Given the description of an element on the screen output the (x, y) to click on. 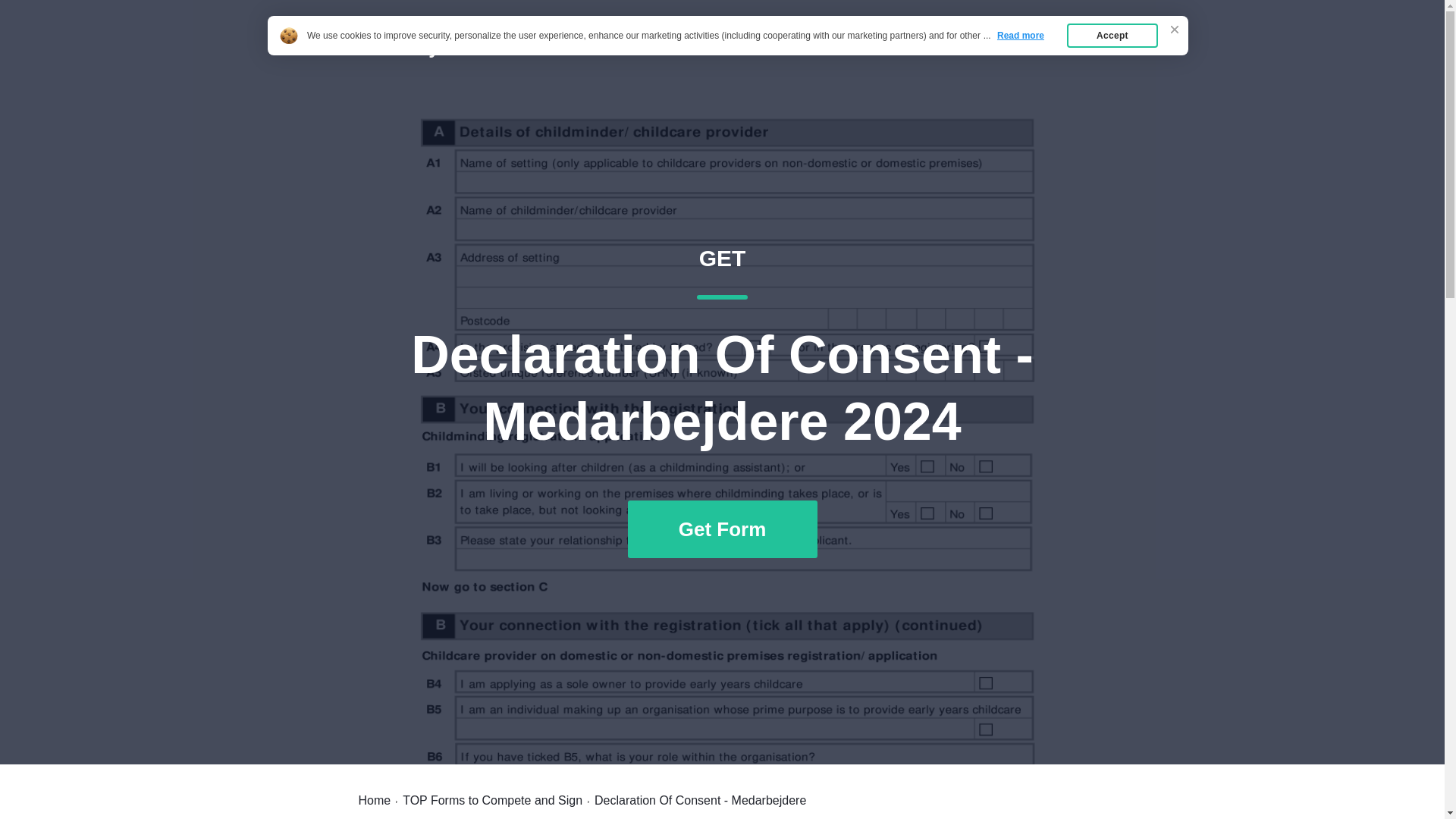
TOP Forms to Compete and Sign (492, 800)
Top Forms (1062, 47)
Ofsted Ey2 (399, 46)
Home (374, 800)
Home (987, 47)
